Given the description of an element on the screen output the (x, y) to click on. 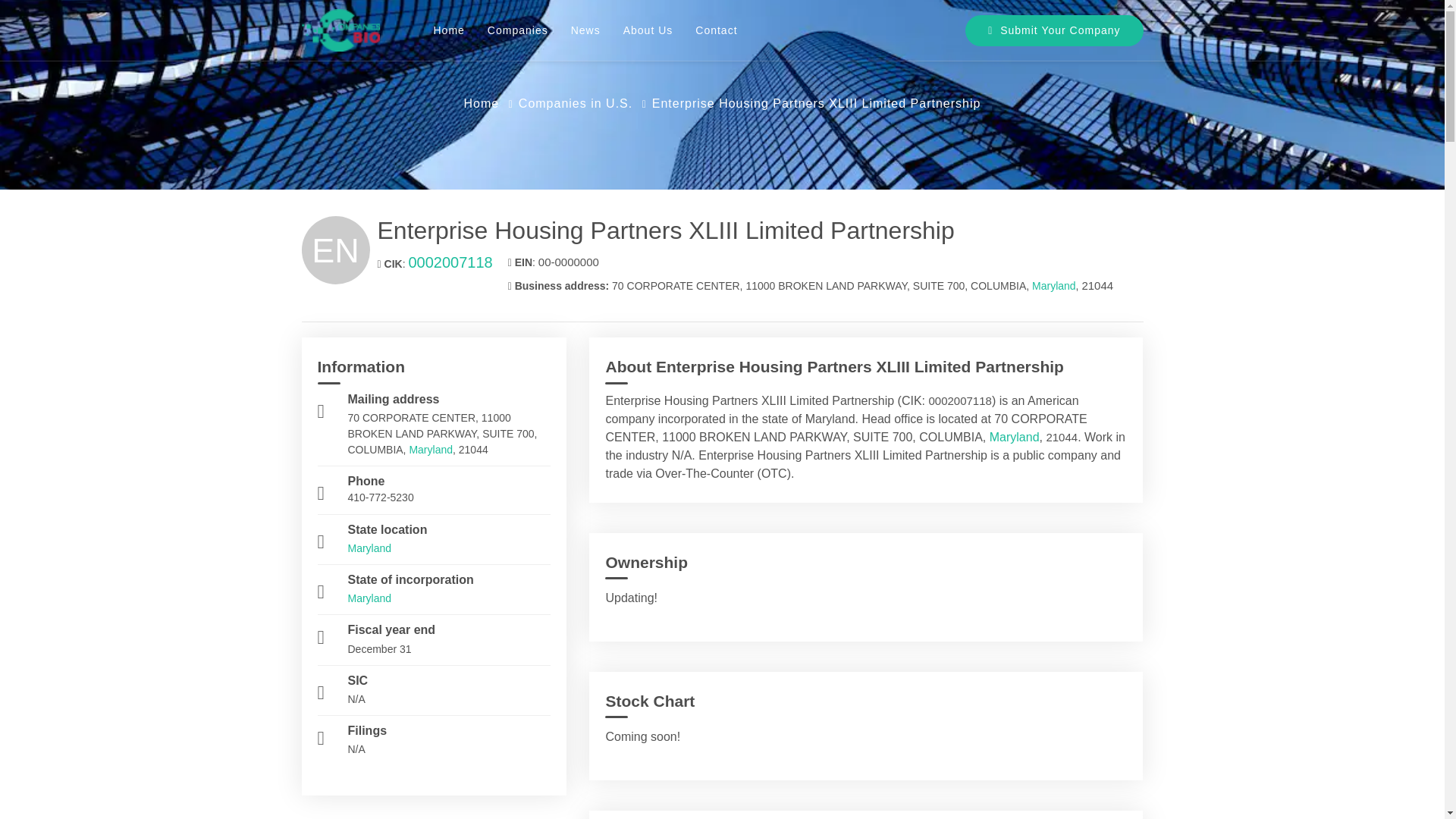
Contact (716, 30)
List Companies at Maryland (1053, 285)
CompaniesBIO.Com (340, 30)
Maryland (369, 548)
List Companies at Maryland (430, 449)
List Companies at Maryland (1014, 436)
Maryland (1014, 436)
Enterprise Housing Partners XLIII Limited Partnership EIN (568, 261)
About Us (647, 30)
Enterprise Housing Partners XLIII Limited Partnership (816, 103)
Submit Your Company (1053, 30)
Companies (517, 30)
Enterprise Housing Partners XLIII Limited Partnership (759, 230)
Maryland (369, 598)
Enterprise Housing Partners XLIII Limited Partnership CIK (449, 262)
